Given the description of an element on the screen output the (x, y) to click on. 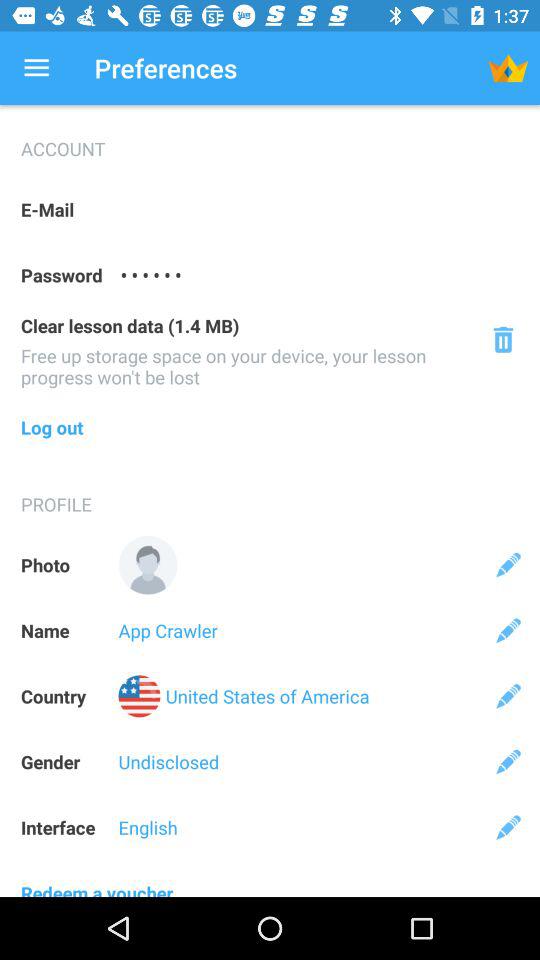
change the country (508, 696)
